Given the description of an element on the screen output the (x, y) to click on. 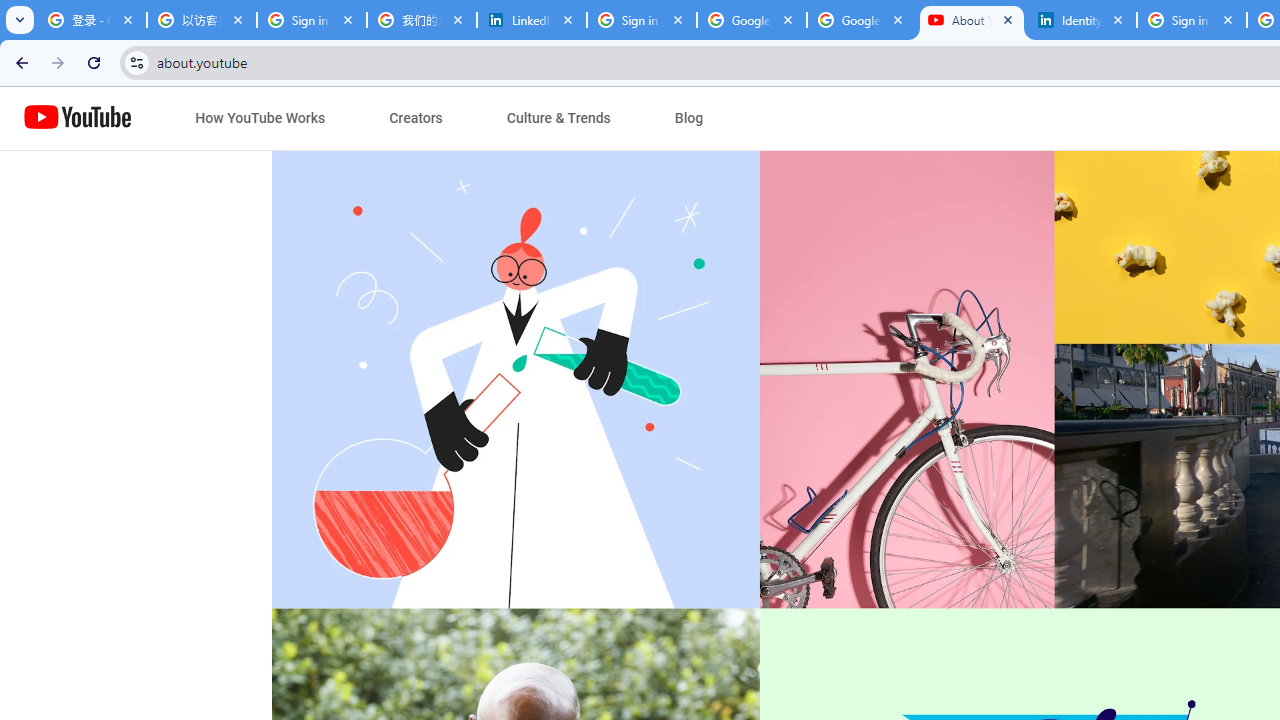
LinkedIn Privacy Policy (532, 20)
Blog (689, 118)
Home page link (77, 118)
Culture & Trends (557, 118)
